Given the description of an element on the screen output the (x, y) to click on. 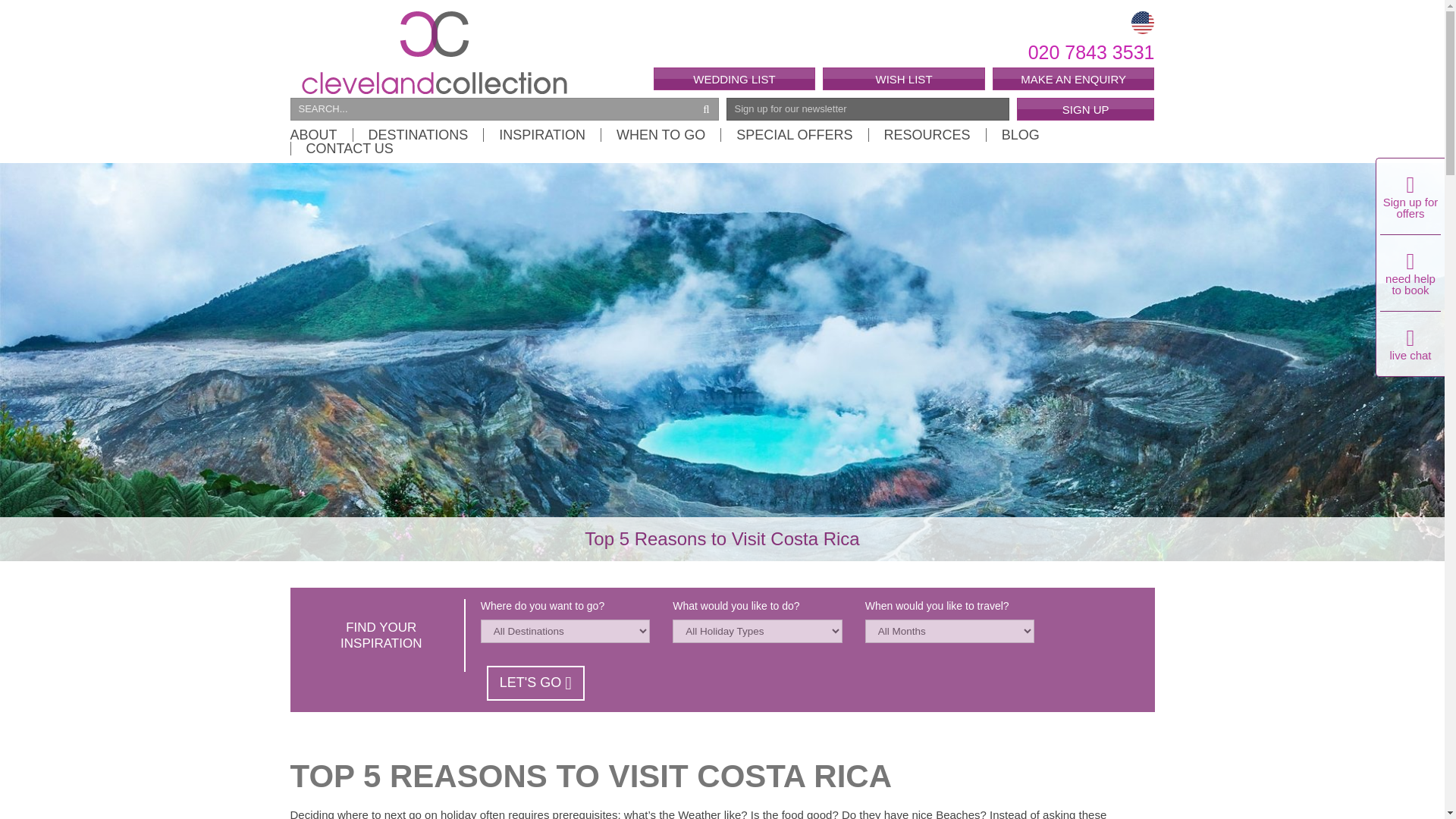
INSPIRATION (541, 134)
WISH LIST (903, 78)
SIGN UP (1085, 108)
DESTINATIONS (417, 134)
ABOUT (320, 134)
BLOG (1019, 134)
CONTACT US (341, 148)
SPECIAL OFFERS (793, 134)
RESOURCES (926, 134)
MAKE AN ENQUIRY (1073, 78)
Opens a widget where you can chat to one of our agents (1311, 184)
WEDDING LIST (734, 78)
WHEN TO GO (659, 134)
